Given the description of an element on the screen output the (x, y) to click on. 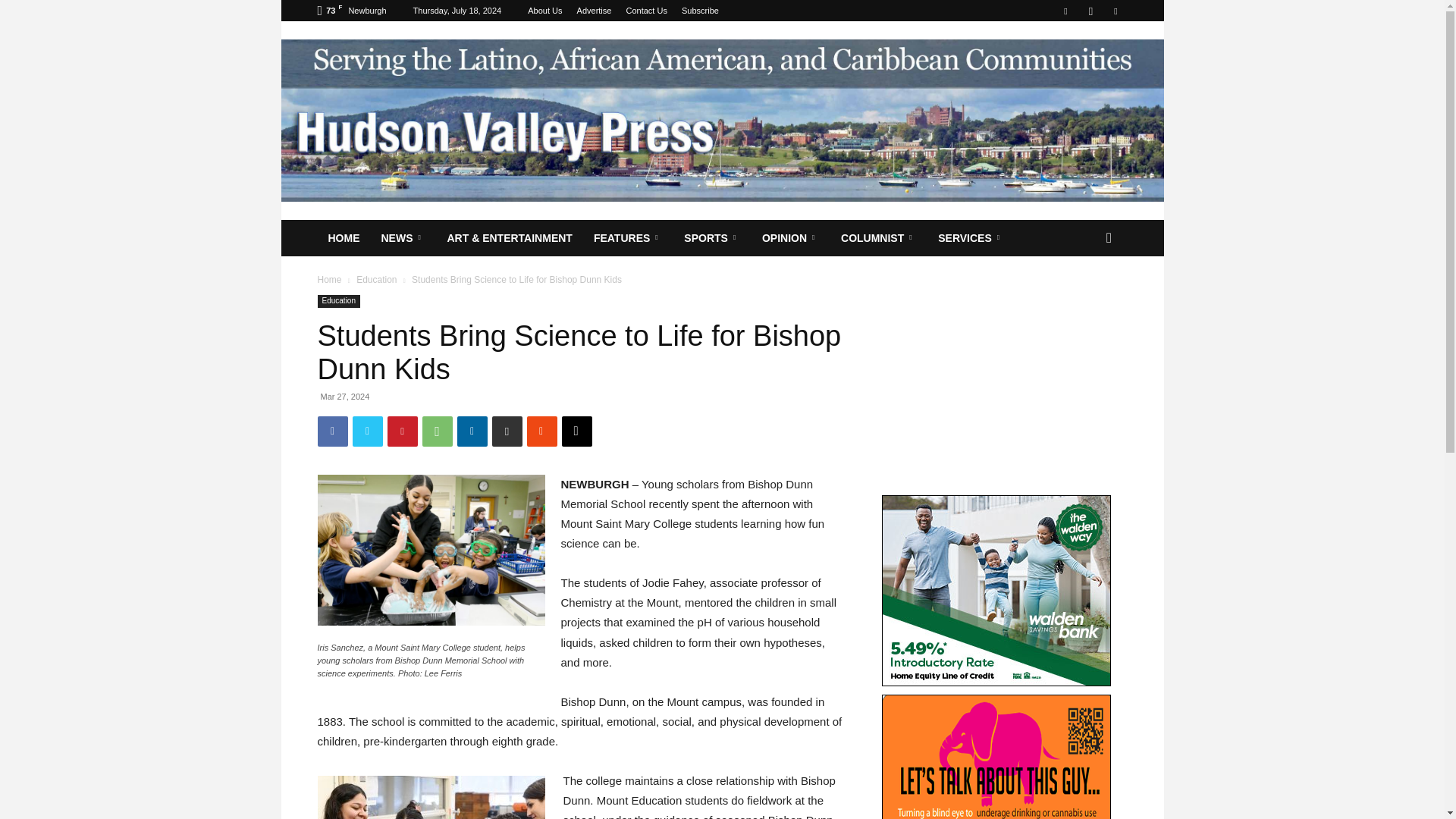
Facebook (332, 431)
Twitter (366, 431)
Mix (540, 431)
Facebook (1065, 10)
Linkedin (471, 431)
Pinterest (401, 431)
Science Day 6484 (430, 550)
Digg (575, 431)
WhatsApp (436, 431)
Instagram (1090, 10)
Twitter (1114, 10)
Print (506, 431)
